Given the description of an element on the screen output the (x, y) to click on. 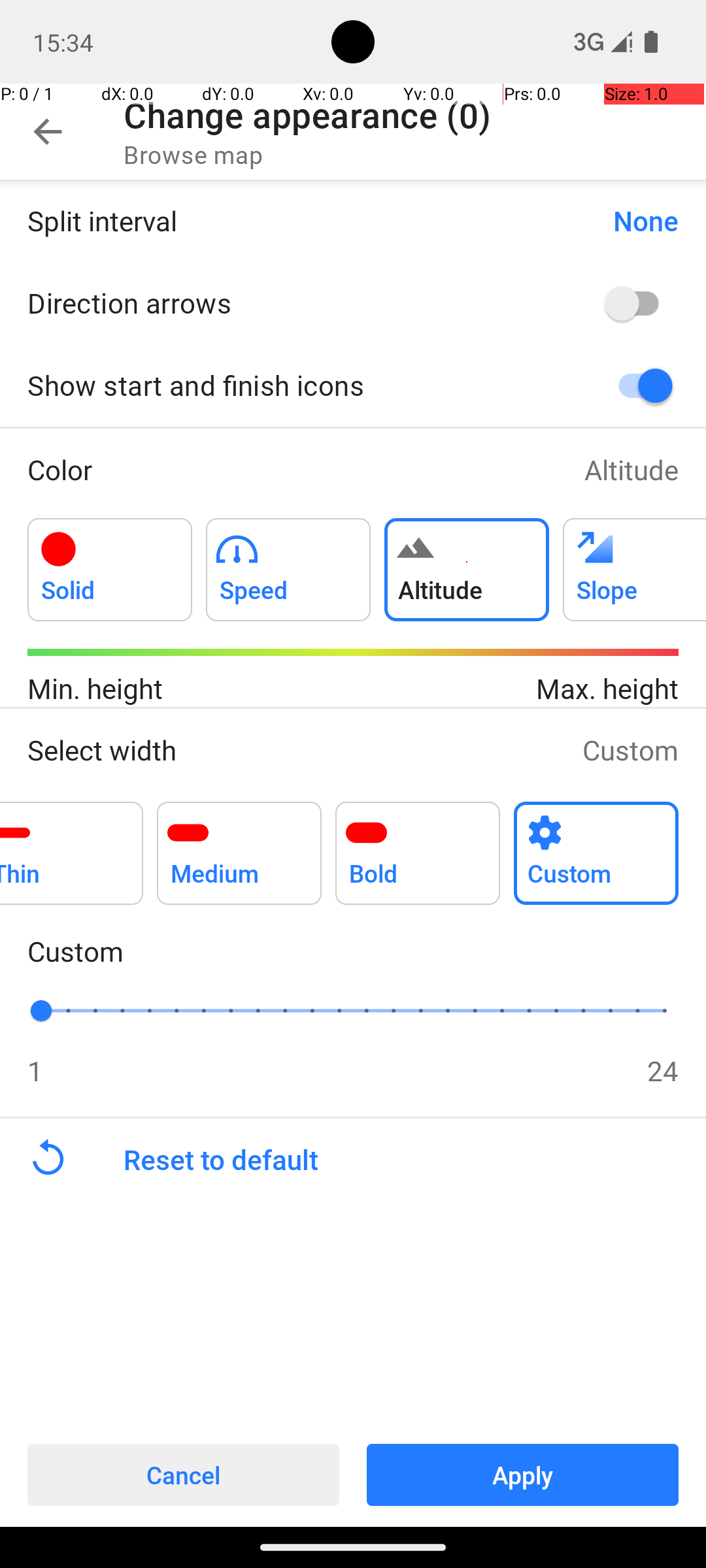
Change appearance (0) Element type: android.widget.TextView (307, 114)
Browse map Element type: android.widget.TextView (193, 154)
Altitude Element type: android.widget.TextView (631, 469)
Min. height Element type: android.widget.TextView (190, 687)
Max. height Element type: android.widget.TextView (515, 687)
Select width Element type: android.widget.TextView (290, 749)
Custom Element type: android.widget.TextView (630, 749)
Split interval Element type: android.widget.TextView (306, 220)
Direction arrows Element type: android.widget.TextView (297, 302)
Show start and finish icons Element type: android.widget.TextView (297, 384)
Value, 1 Element type: android.widget.SeekBar (54, 1010)
Reset to default Element type: android.widget.TextView (414, 1159)
Add to group Element type: android.widget.ImageView (109, 569)
Solid Element type: android.widget.TextView (109, 562)
Speed Element type: android.widget.TextView (287, 562)
Slope Element type: android.widget.TextView (634, 562)
Thin Element type: android.widget.TextView (71, 845)
Medium Element type: android.widget.TextView (238, 845)
